Given the description of an element on the screen output the (x, y) to click on. 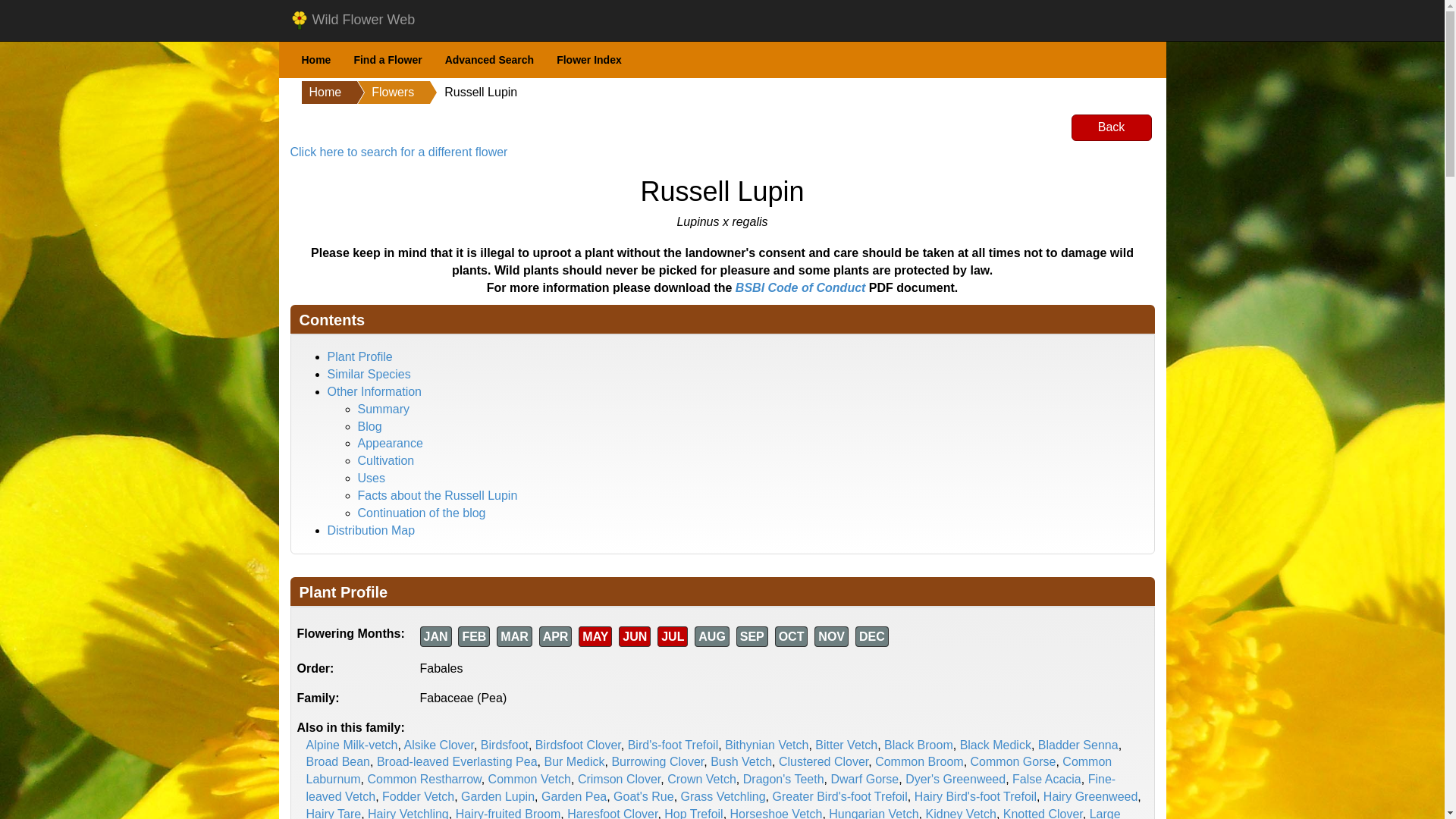
Burrowing Clover (657, 761)
Distribution Map (370, 530)
Click here to search for a different flower (397, 151)
Uses (371, 477)
Birdsfoot (504, 744)
Black Medick (994, 744)
Other Information (374, 391)
Flower Index (588, 60)
Bird's-foot Trefoil (673, 744)
Plant Profile (360, 356)
BSBI Code of Conduct (800, 287)
Home (321, 92)
Bush Vetch (740, 761)
Blog (369, 426)
Continuation of the blog (422, 512)
